Given the description of an element on the screen output the (x, y) to click on. 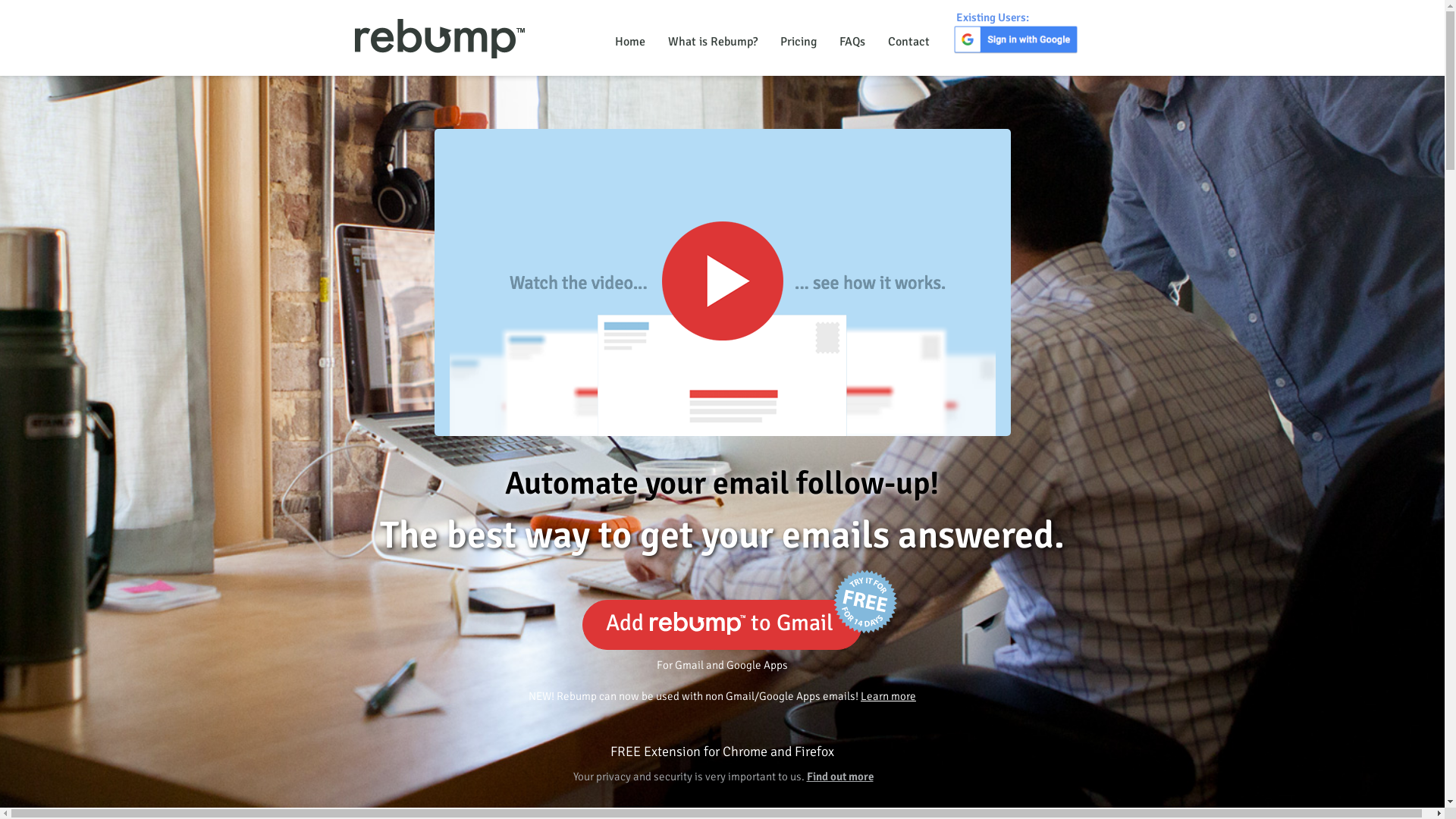
FAQs Element type: text (852, 41)
Contact Element type: text (908, 41)
Pricing Element type: text (798, 41)
Add to Gmail free Element type: text (722, 624)
Home Element type: text (630, 41)
Learn more Element type: text (888, 695)
Find out more Element type: text (839, 776)
What is Rebump? Element type: text (712, 41)
